Given the description of an element on the screen output the (x, y) to click on. 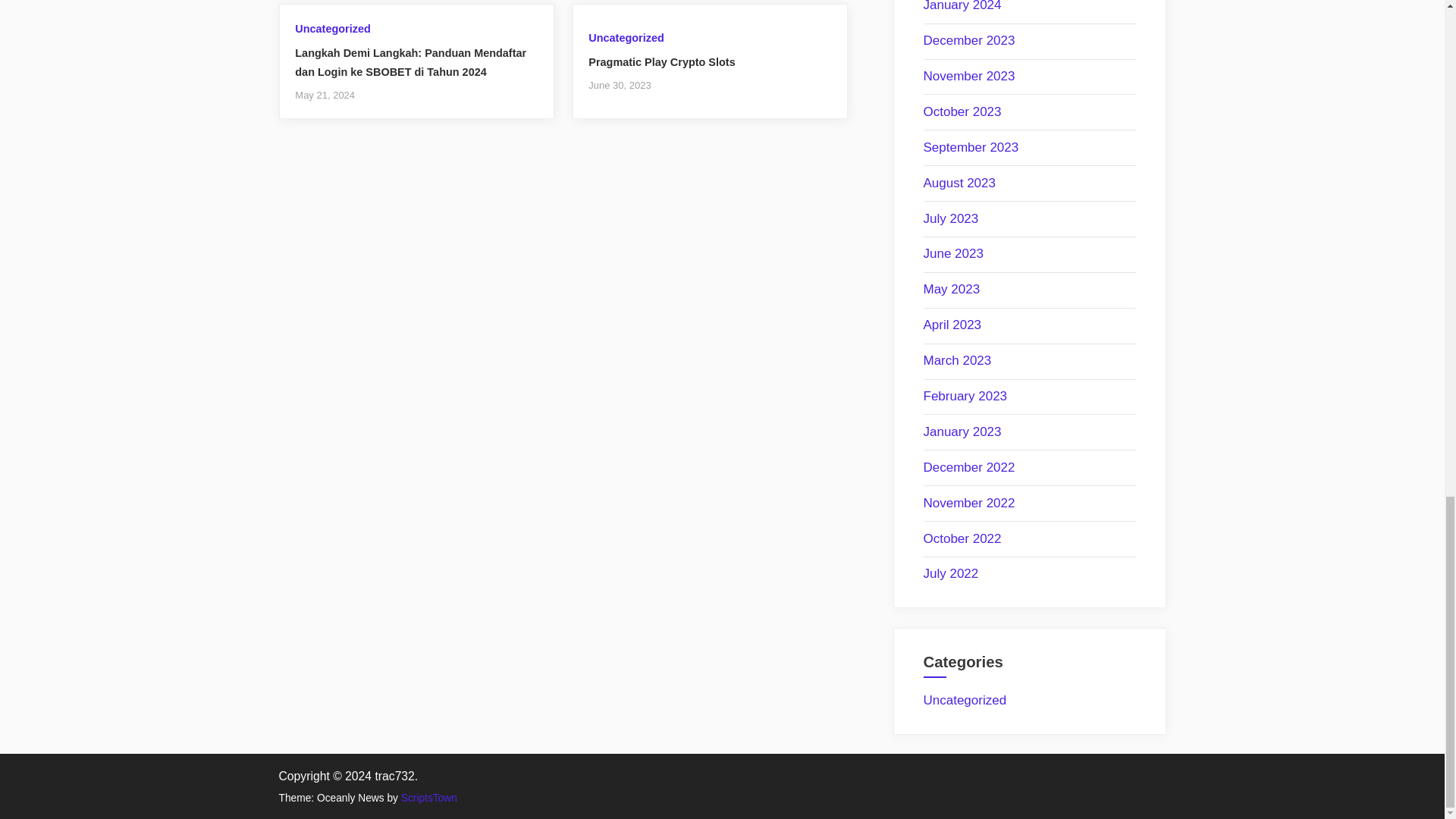
Pragmatic Play Crypto Slots (661, 61)
November 2023 (968, 75)
Uncategorized (625, 37)
September 2023 (971, 147)
Uncategorized (332, 28)
January 2024 (962, 6)
October 2023 (962, 111)
December 2023 (968, 40)
